Given the description of an element on the screen output the (x, y) to click on. 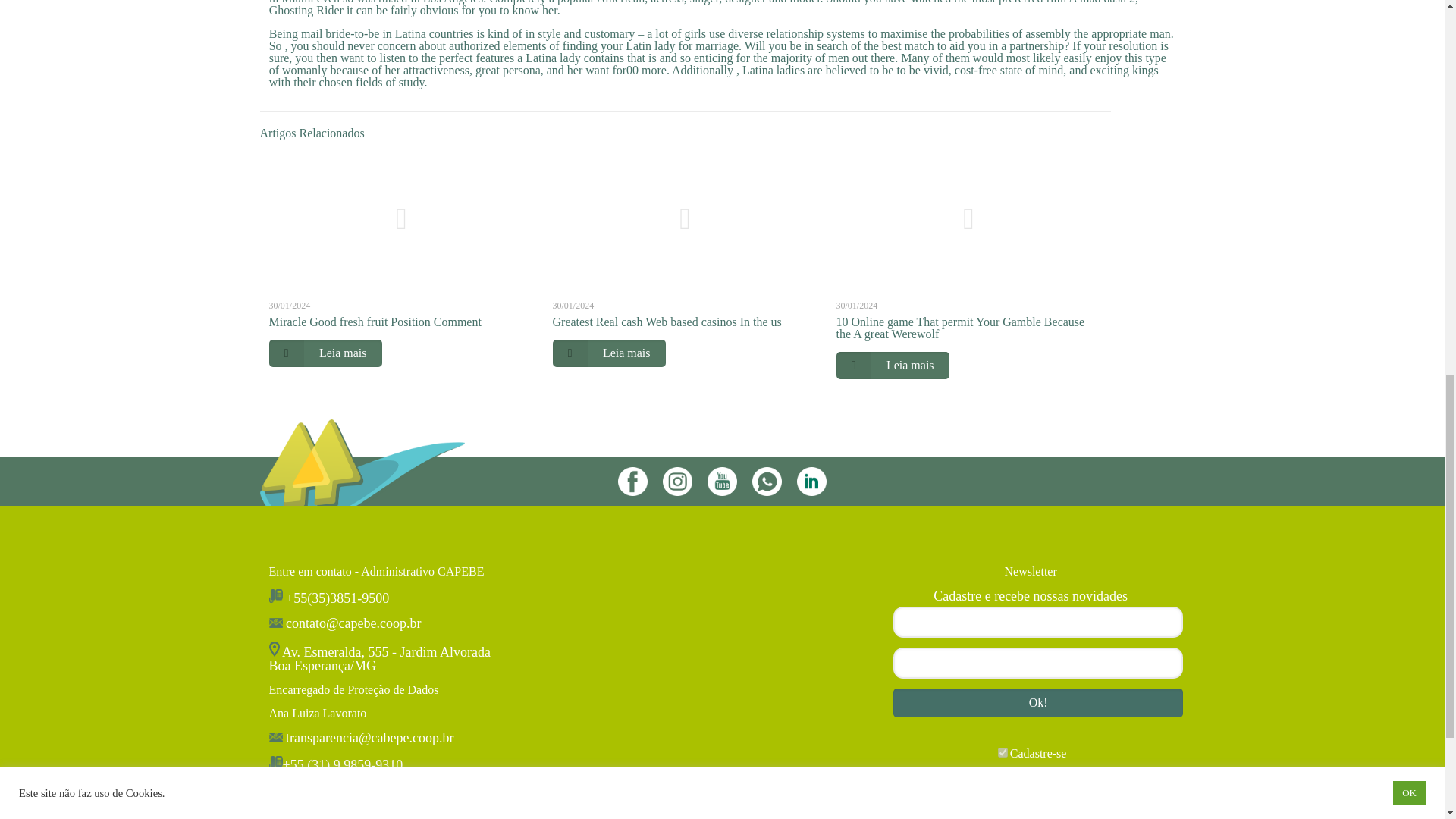
Leia mais (324, 352)
Greatest Real cash Web based casinos In the us (667, 321)
Leia mais (609, 352)
Leia mais (892, 365)
Ok! (1038, 702)
1 (1002, 752)
Ok! (1038, 702)
Trabalhe conosco (1030, 789)
Miracle Good fresh fruit Position Comment (373, 321)
